Given the description of an element on the screen output the (x, y) to click on. 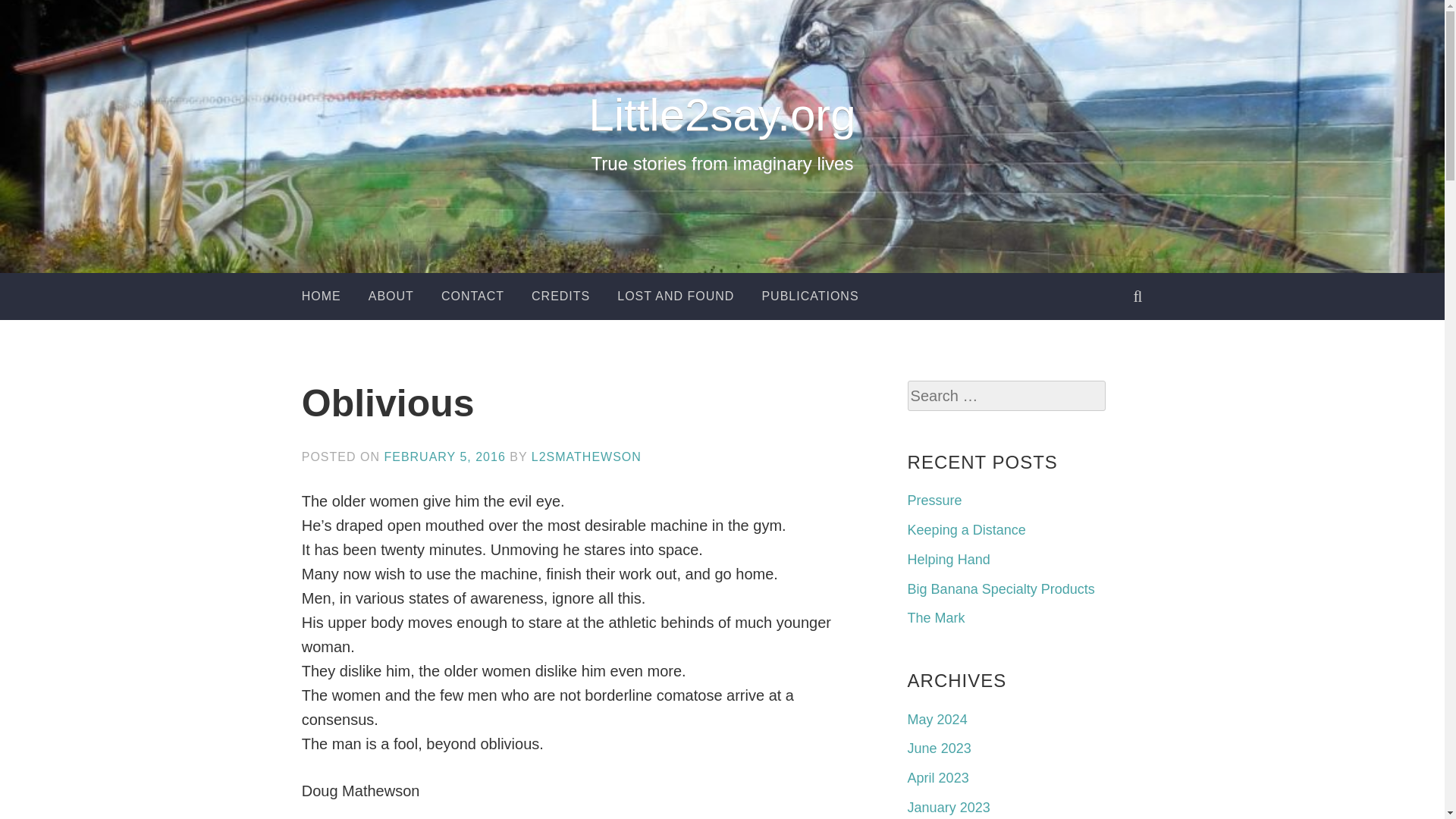
Little2say.org (722, 114)
Search (32, 17)
Helping Hand (948, 559)
ABOUT (390, 296)
June 2023 (939, 748)
May 2024 (937, 719)
PUBLICATIONS (810, 296)
January 2023 (948, 807)
April 2023 (938, 777)
CONTACT (472, 296)
Keeping a Distance (966, 529)
Pressure (934, 500)
Big Banana Specialty Products (1000, 589)
L2SMATHEWSON (586, 456)
FEBRUARY 5, 2016 (444, 456)
